Given the description of an element on the screen output the (x, y) to click on. 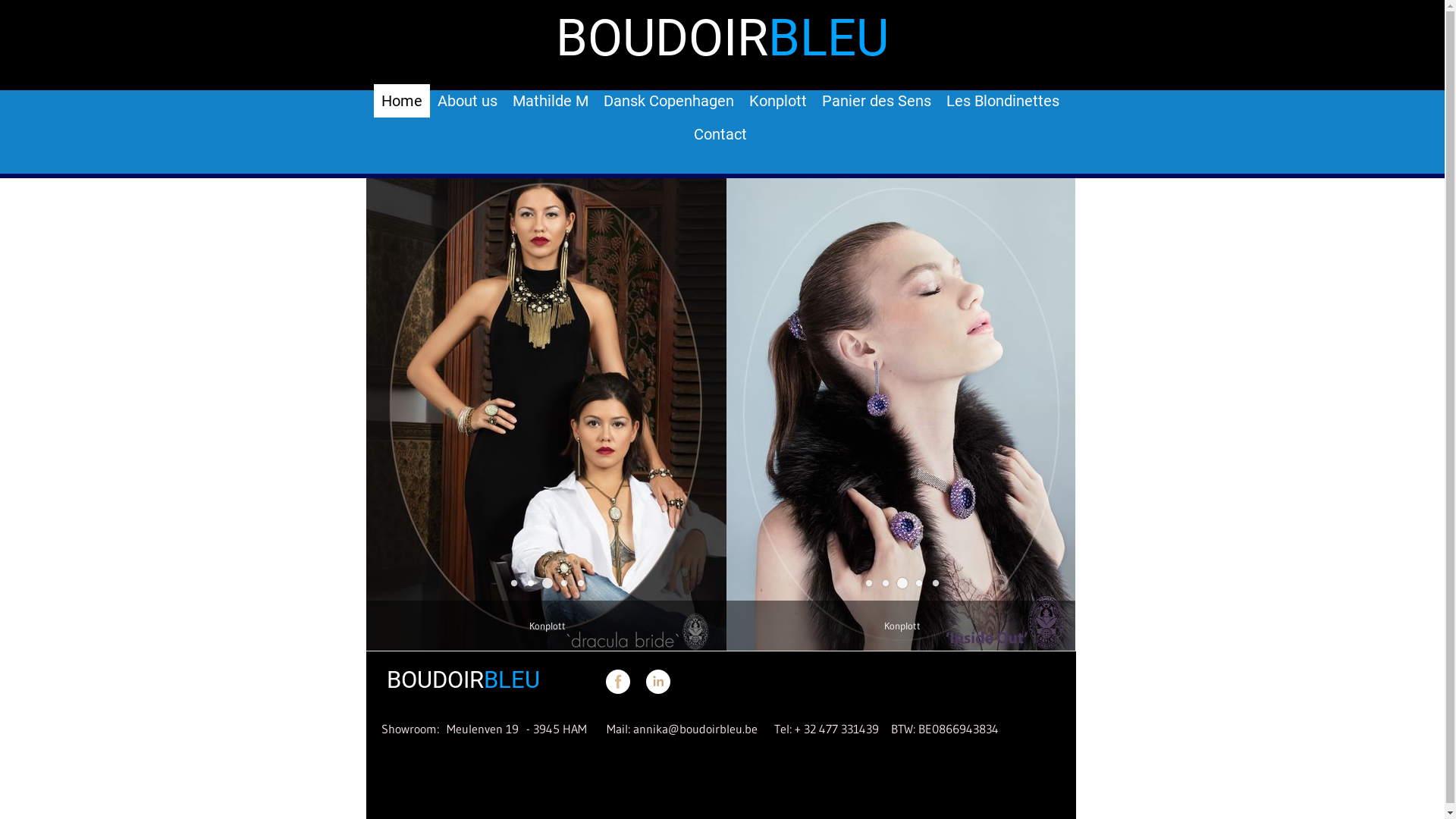
Dansk Copenhagen Element type: text (668, 100)
Mathilde M Element type: text (550, 100)
Home Element type: text (401, 100)
Konplott Element type: text (777, 100)
About us Element type: text (467, 100)
Contact Element type: text (720, 133)
Les Blondinettes Element type: text (1002, 100)
Dansk Copenhagen Element type: hover (545, 414)
Dansk Copenhagen  Element type: hover (900, 414)
Panier des Sens Element type: text (876, 100)
